Given the description of an element on the screen output the (x, y) to click on. 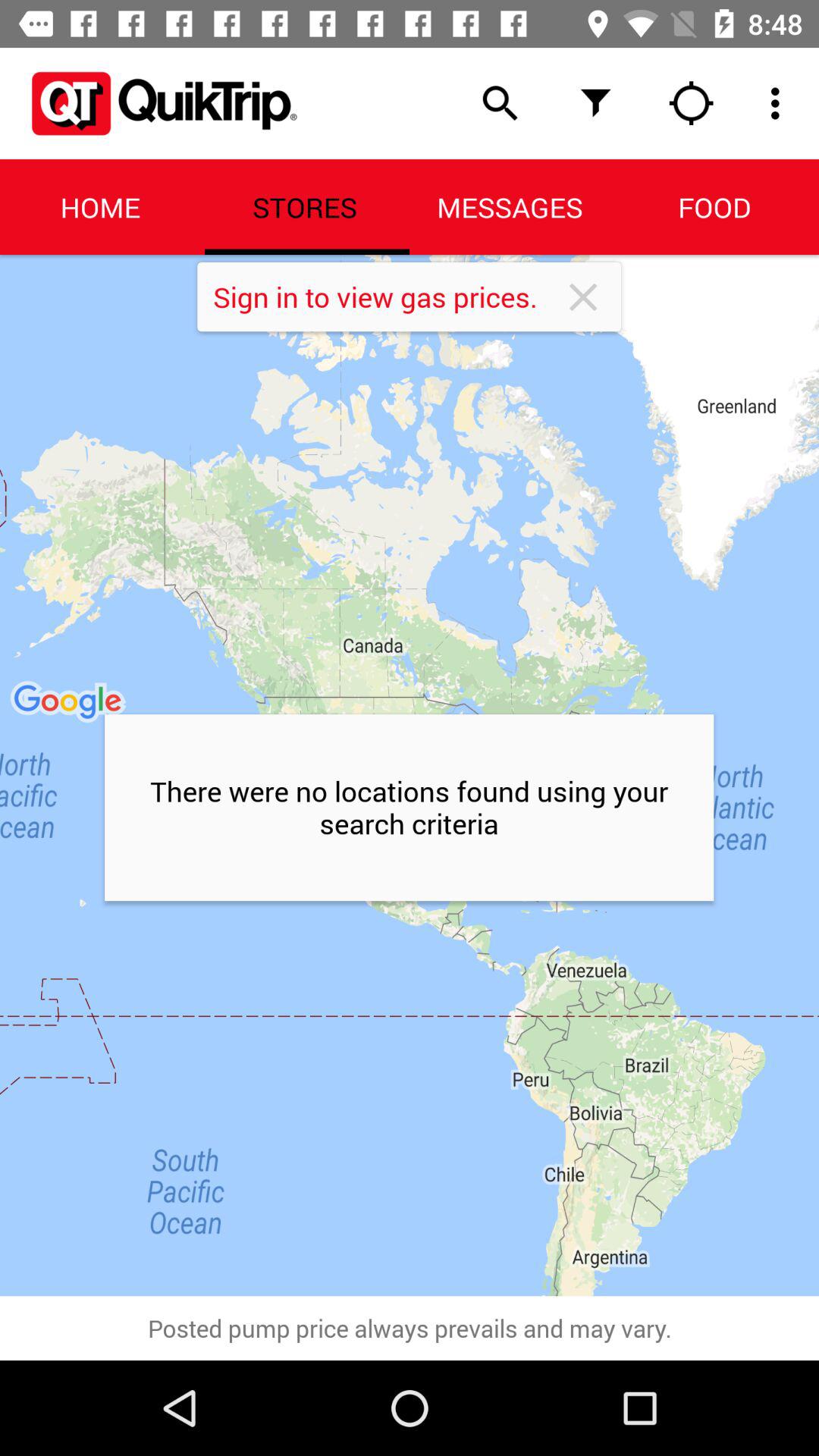
turn on the icon below home item (409, 775)
